Given the description of an element on the screen output the (x, y) to click on. 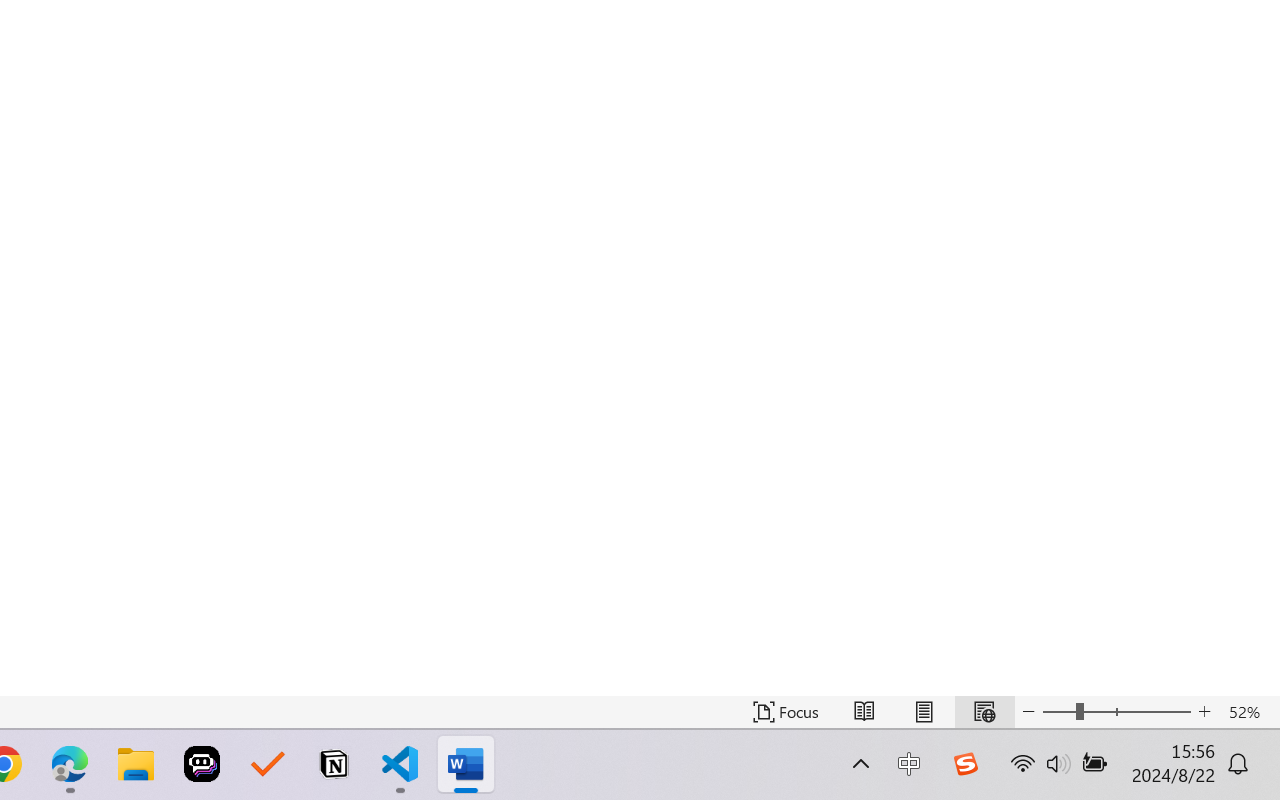
Zoom In (1204, 712)
Zoom 52% (1249, 712)
Zoom Out (1058, 712)
Zoom (1116, 712)
Focus  (786, 712)
Read Mode (864, 712)
Class: Image (965, 764)
Print Layout (924, 712)
Web Layout (984, 712)
